Given the description of an element on the screen output the (x, y) to click on. 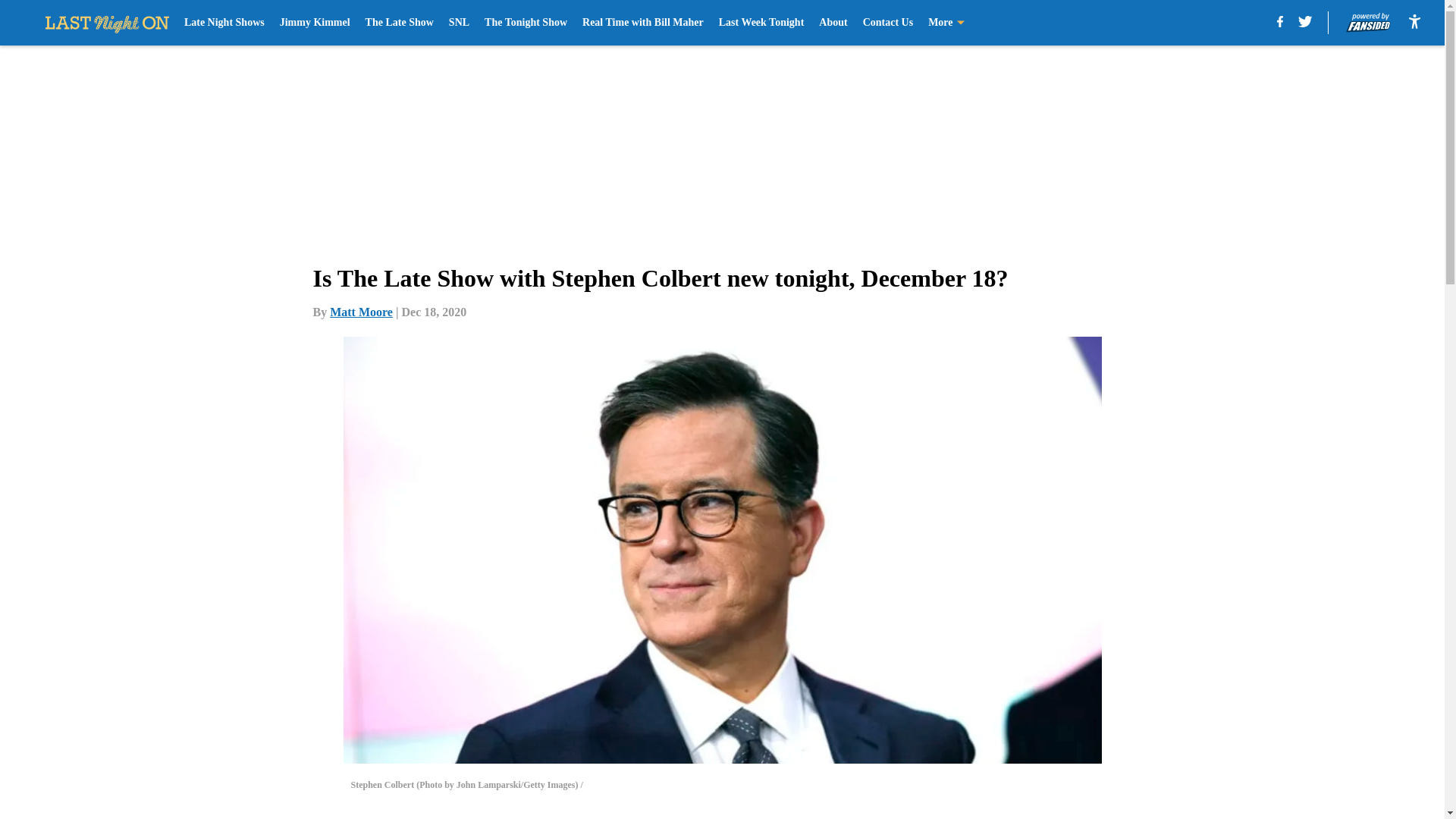
About (832, 22)
Late Night Shows (224, 22)
Last Week Tonight (762, 22)
The Late Show (399, 22)
Contact Us (888, 22)
The Tonight Show (525, 22)
Jimmy Kimmel (314, 22)
More (945, 22)
SNL (458, 22)
Matt Moore (361, 311)
